Given the description of an element on the screen output the (x, y) to click on. 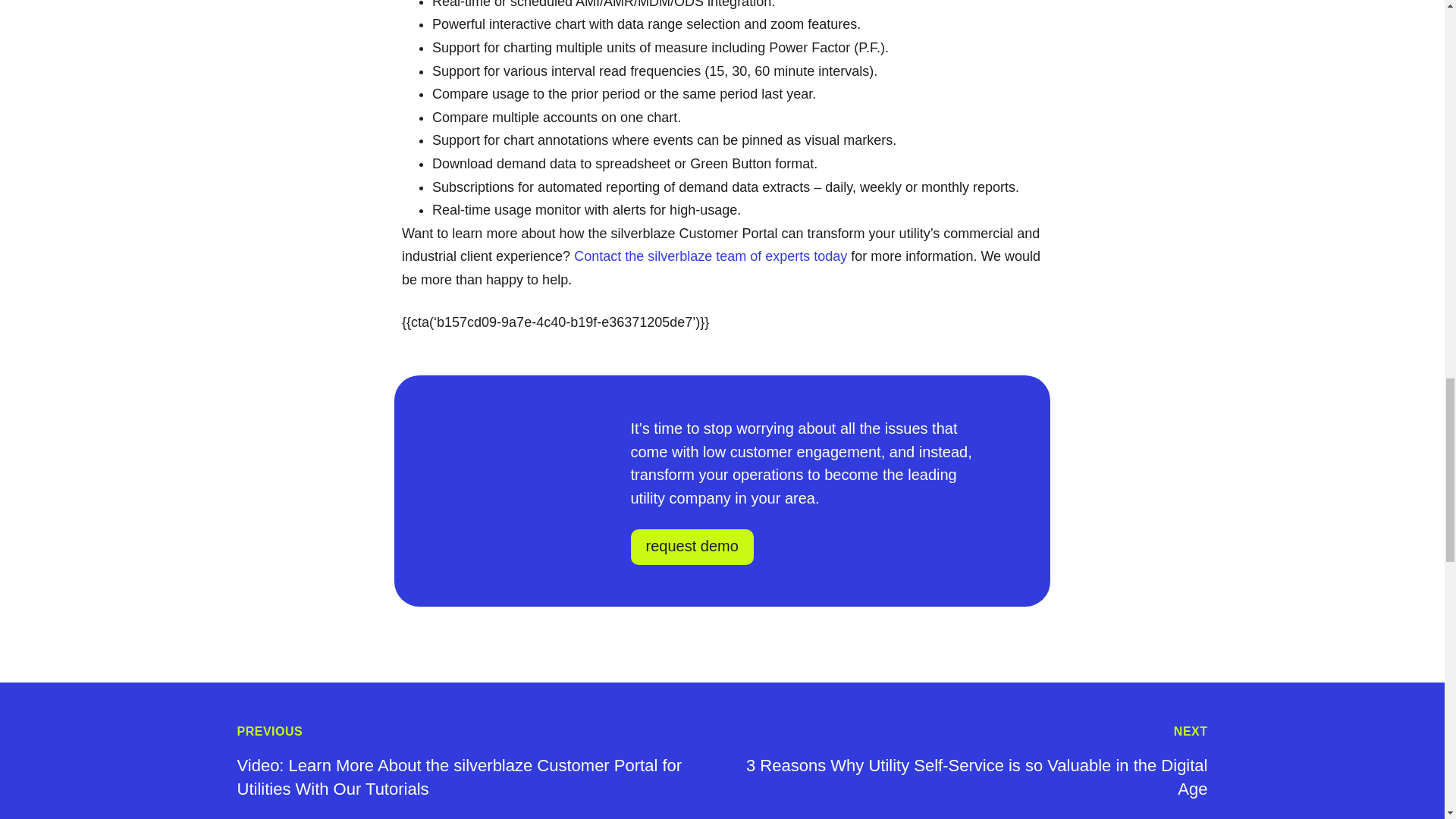
request demo (692, 547)
Contact the silverblaze team of experts today (710, 255)
